Given the description of an element on the screen output the (x, y) to click on. 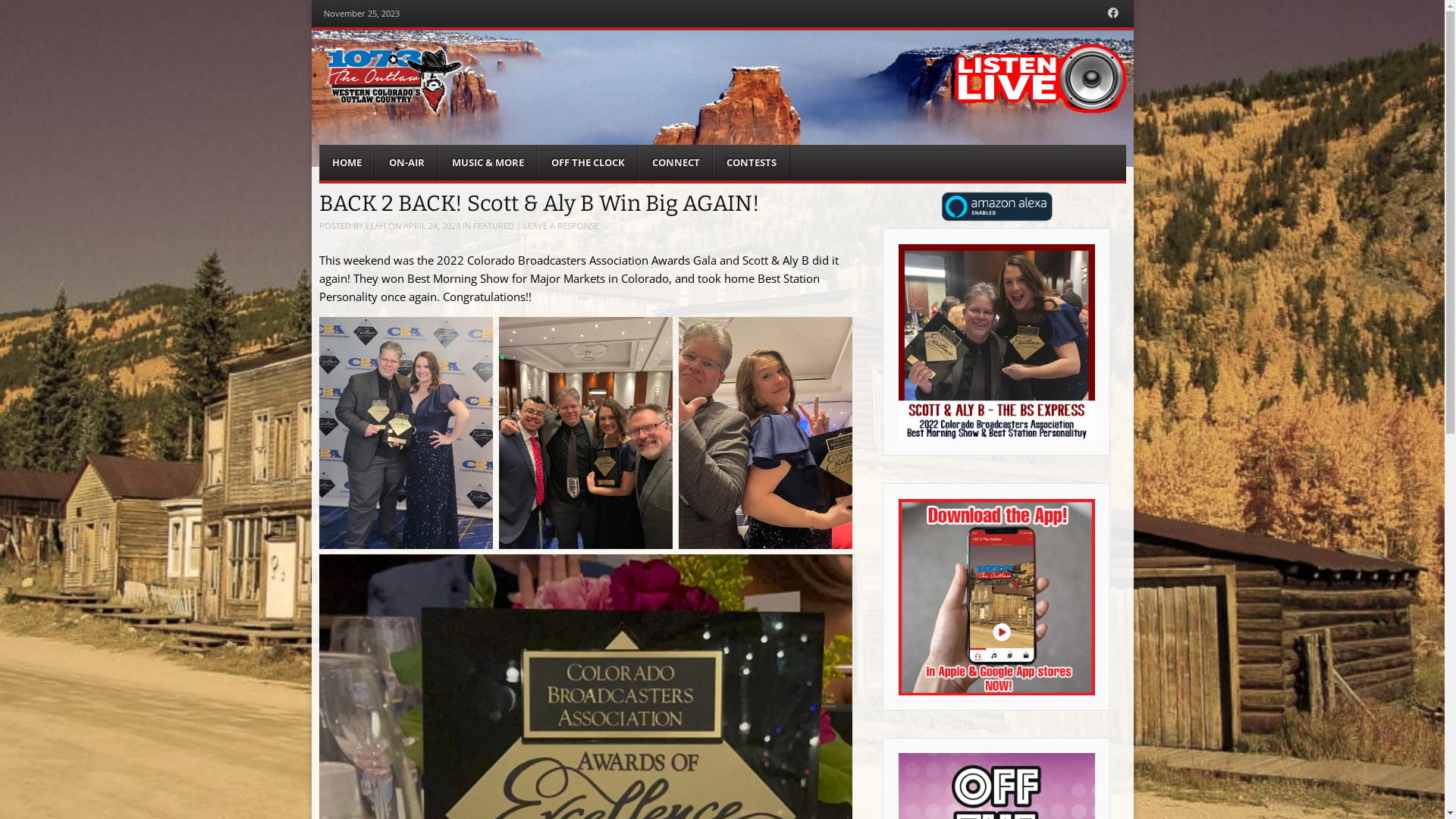
LEAVE A RESPONSE Element type: text (561, 225)
Facebook Element type: text (1112, 12)
CONNECT Element type: text (675, 162)
FEATURED Element type: text (493, 225)
MUSIC & MORE Element type: text (487, 162)
OFF THE CLOCK Element type: text (587, 162)
ON-AIR Element type: text (406, 162)
CONTESTS Element type: text (751, 162)
HOME Element type: text (346, 162)
LEAH Element type: text (375, 225)
